Given the description of an element on the screen output the (x, y) to click on. 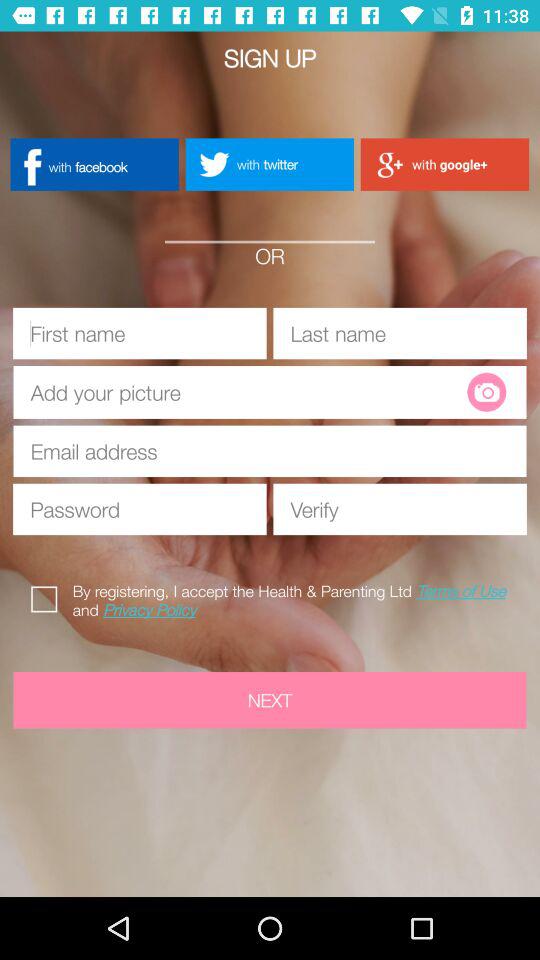
select camera (486, 392)
